Given the description of an element on the screen output the (x, y) to click on. 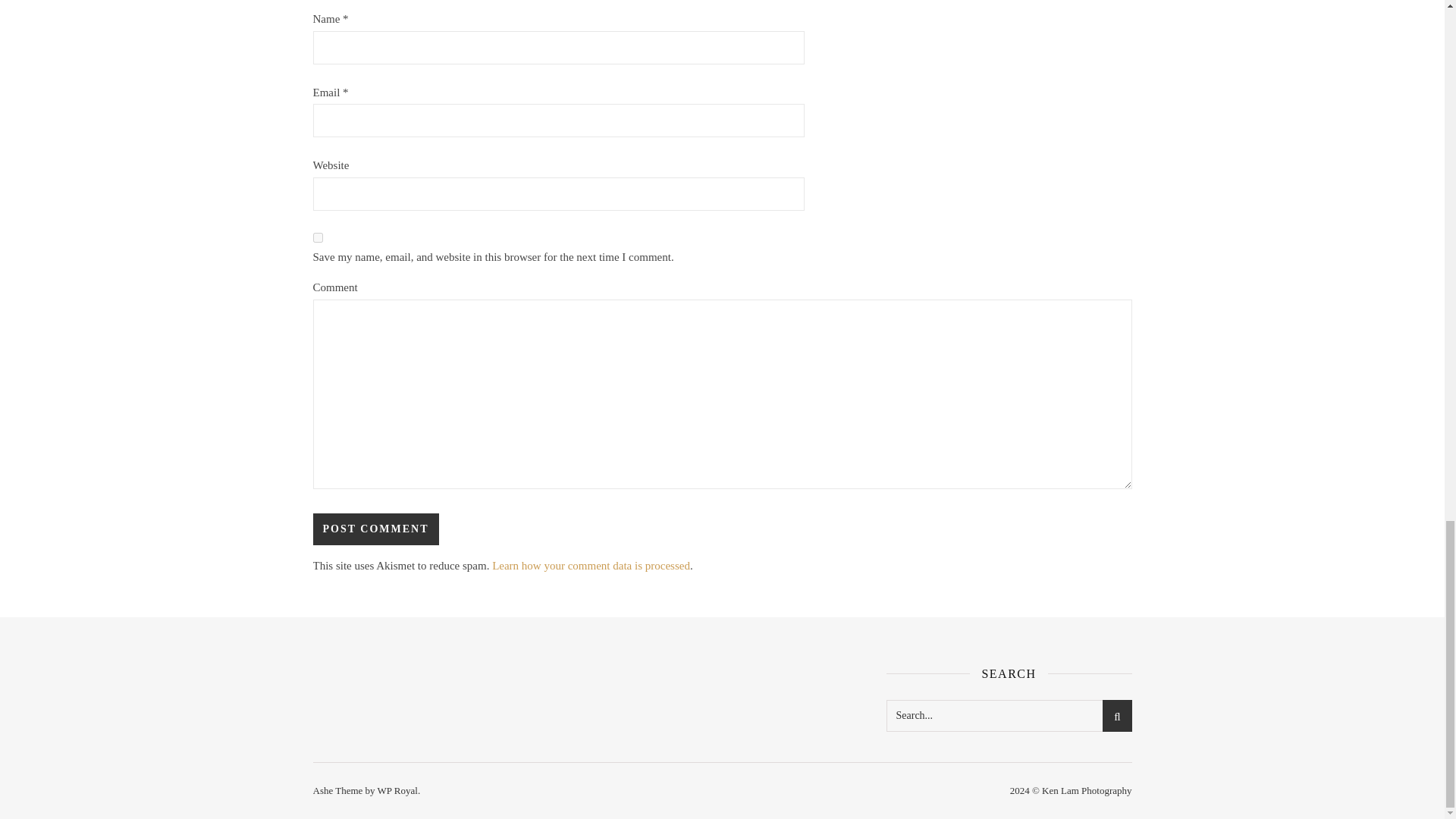
Post Comment (375, 529)
Post Comment (375, 529)
Learn how your comment data is processed (591, 565)
yes (317, 237)
WP Royal (397, 790)
